Given the description of an element on the screen output the (x, y) to click on. 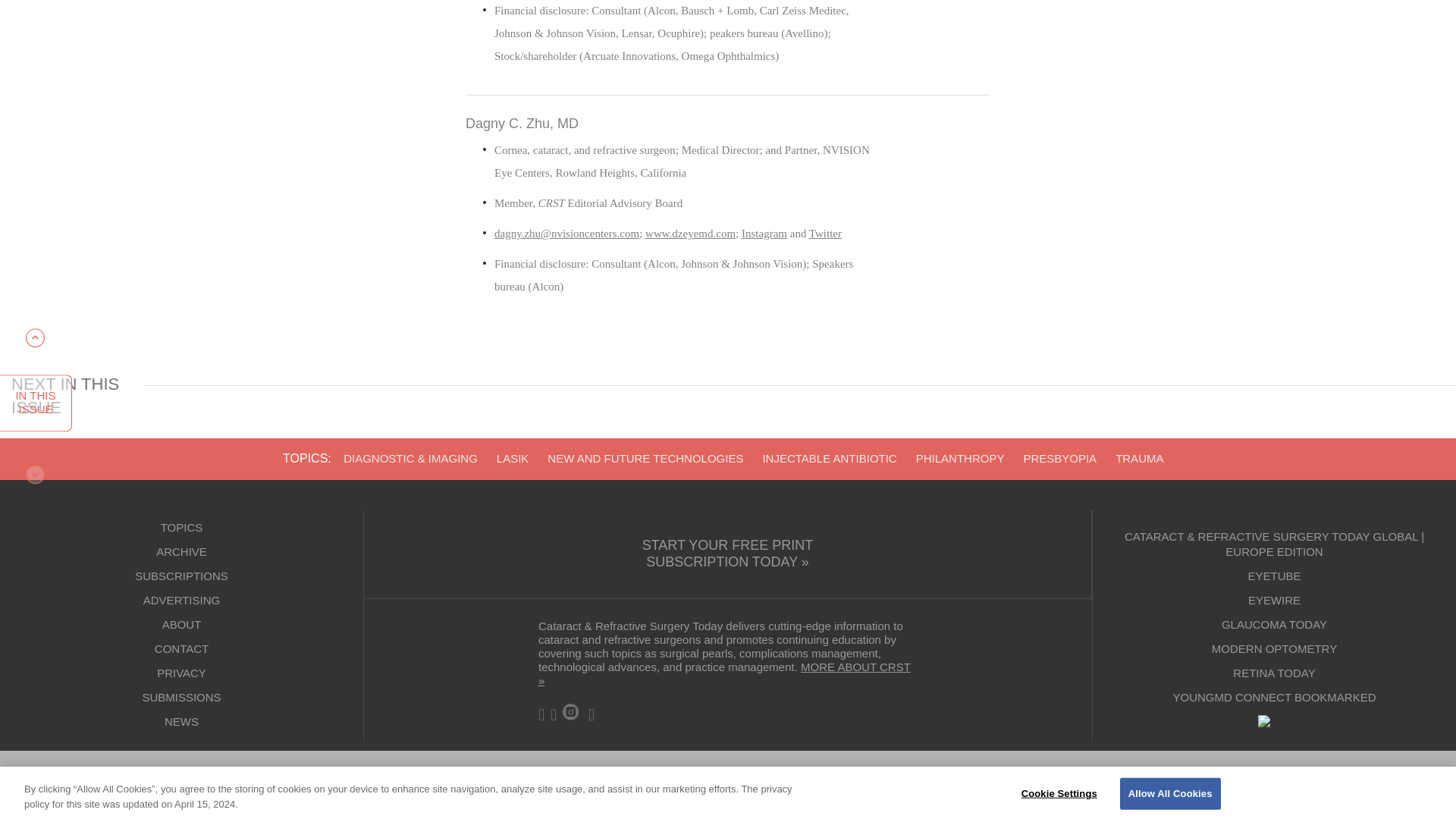
View all post filed under Injectable Antibiotic (828, 458)
View all post filed under New and Future Technologies (644, 458)
View all post filed under LASIK (512, 458)
View all post filed under Presbyopia (1059, 458)
View all post filed under Philanthropy (959, 458)
View all post filed under Trauma (1139, 458)
